Given the description of an element on the screen output the (x, y) to click on. 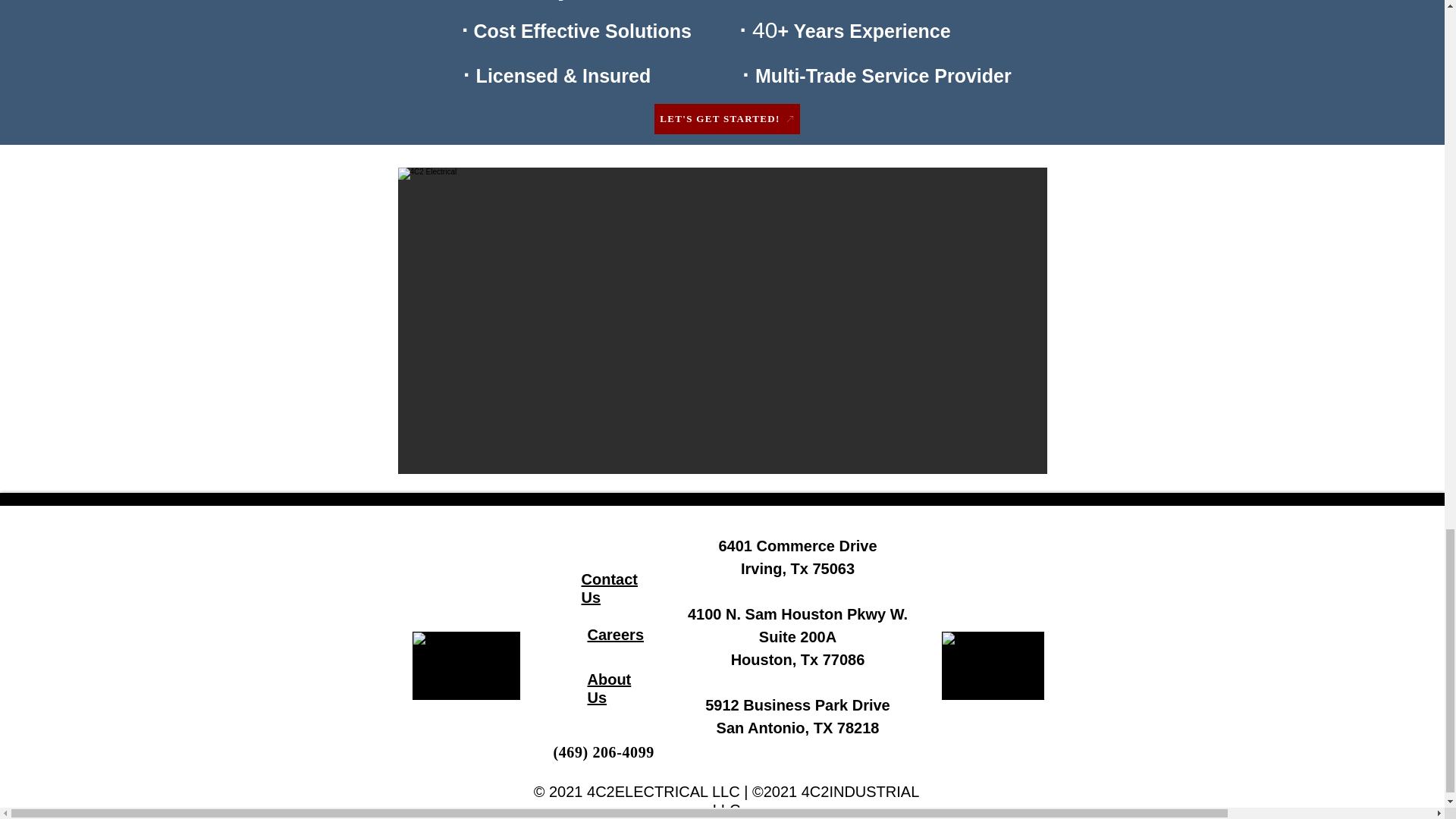
LET'S GET STARTED! (726, 119)
Careers (614, 634)
About Us (608, 687)
Contact Us (608, 588)
